Given the description of an element on the screen output the (x, y) to click on. 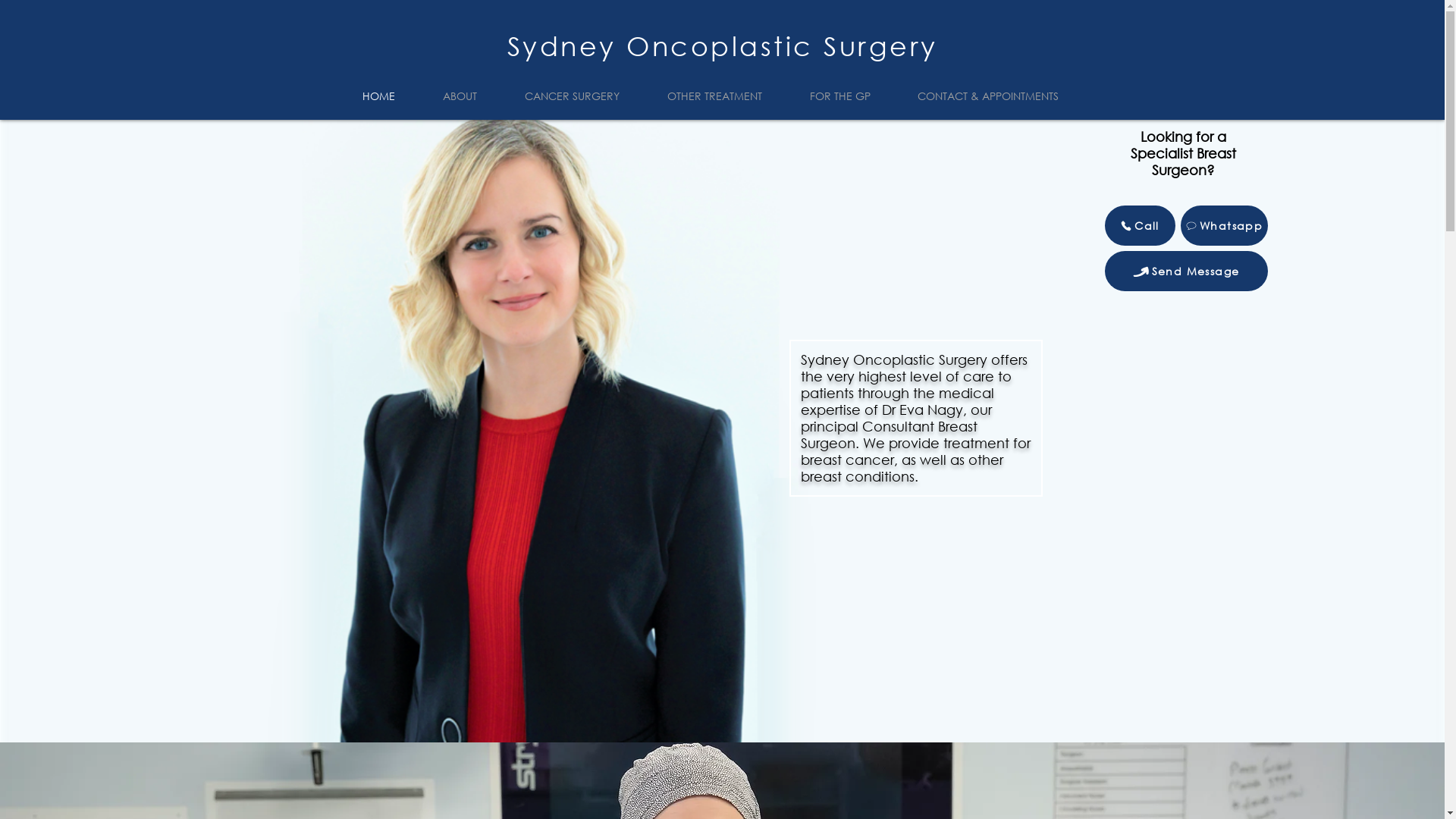
CONTACT & APPOINTMENTS Element type: text (999, 95)
OTHER TREATMENT Element type: text (726, 95)
Whatsapp Element type: text (1223, 225)
HOME Element type: text (390, 95)
Sydney Oncoplastic Surgery Element type: text (721, 45)
Send Message Element type: text (1185, 271)
Call Element type: text (1139, 225)
